Given the description of an element on the screen output the (x, y) to click on. 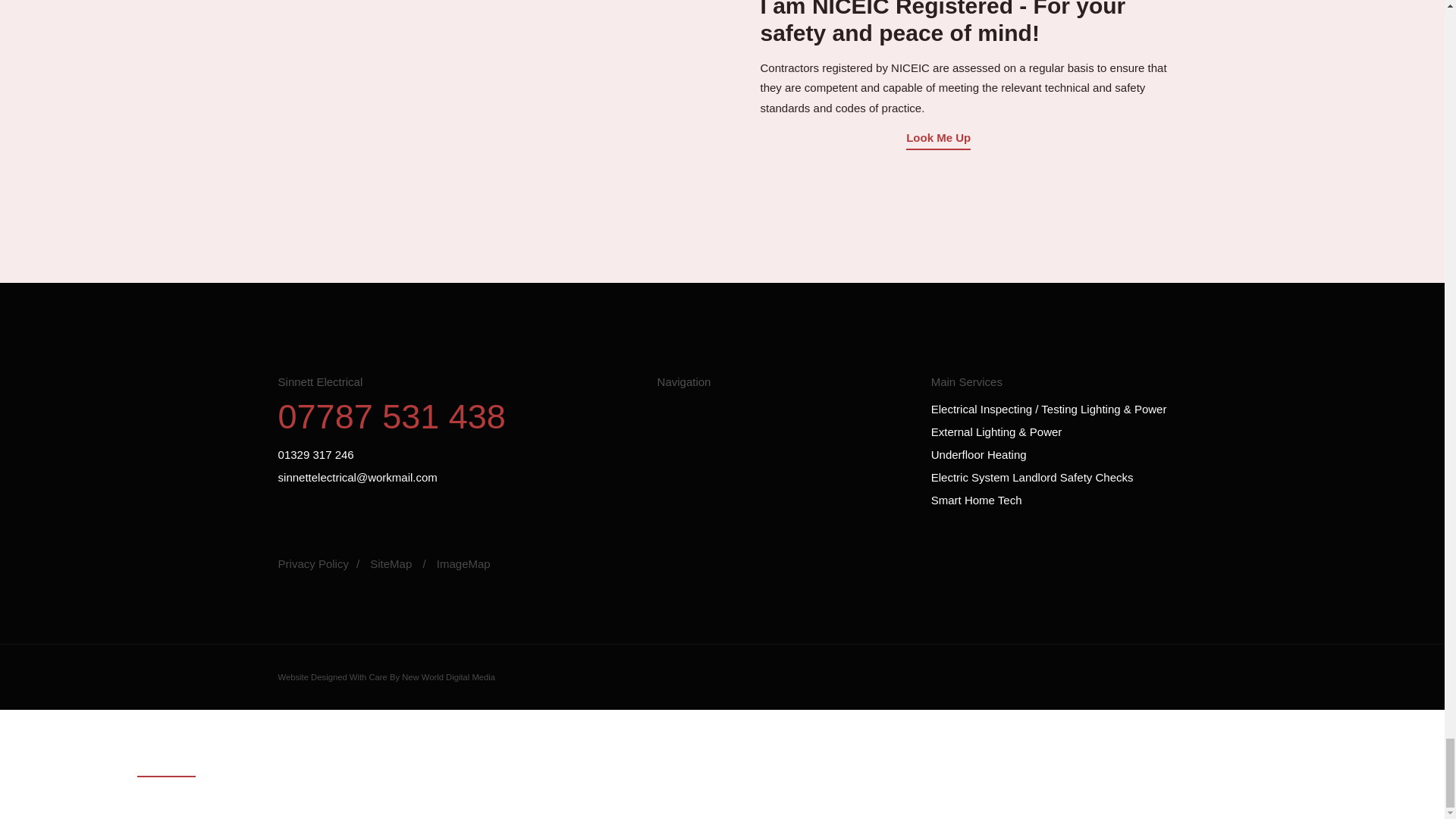
01329 317 246 (457, 454)
YouTube video player (494, 95)
Look Me Up (938, 137)
Read more (166, 764)
07787 531 438 (457, 416)
